Given the description of an element on the screen output the (x, y) to click on. 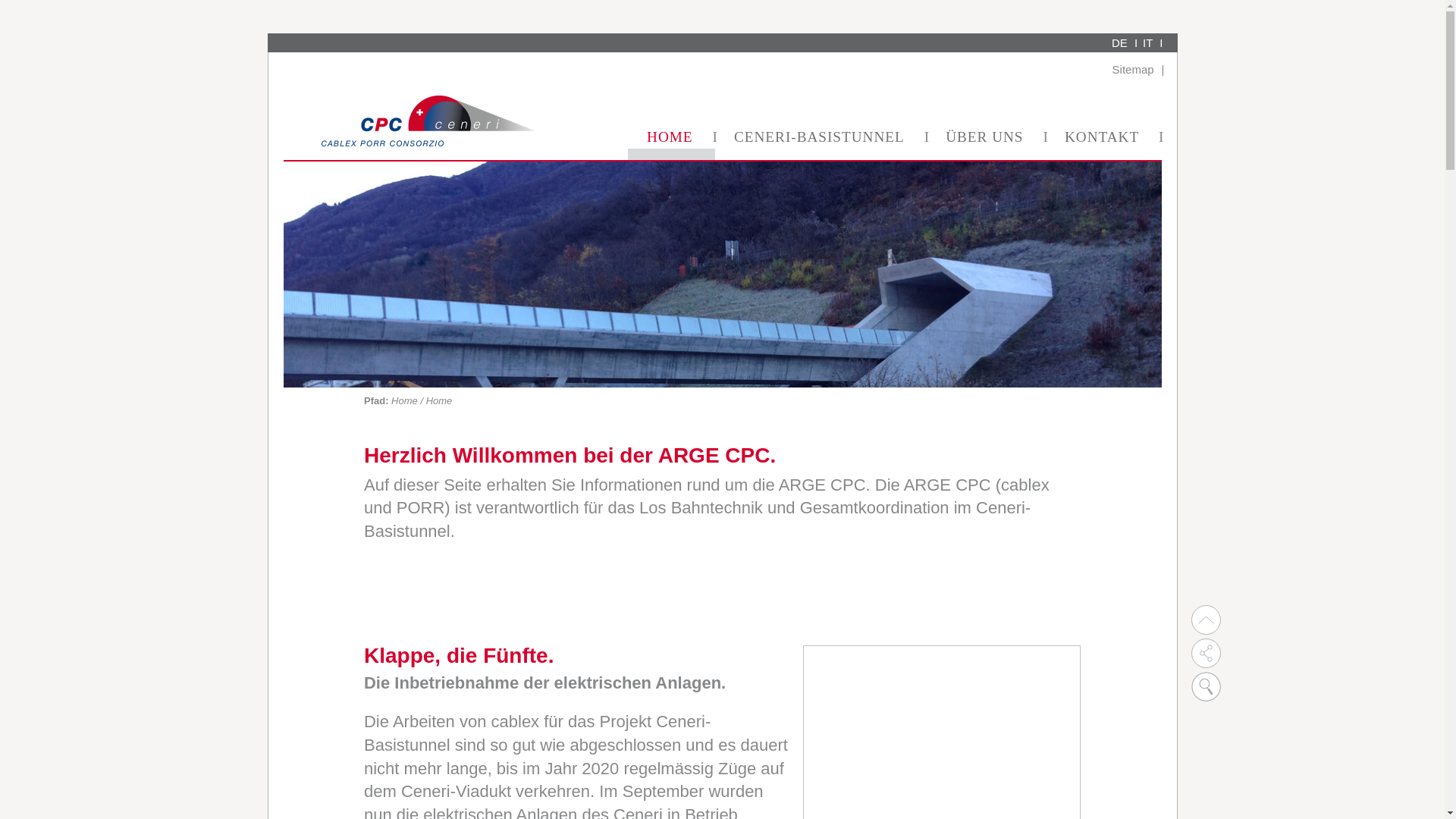
CENERI-BASISTUNNEL Element type: text (820, 142)
Home Element type: text (405, 400)
Ceneri-Basistunnel Element type: hover (722, 275)
DE Element type: text (1124, 42)
Sitemap Element type: text (1138, 68)
KONTAKT Element type: text (1103, 142)
HOME Element type: text (671, 142)
IT Element type: text (1152, 42)
